Given the description of an element on the screen output the (x, y) to click on. 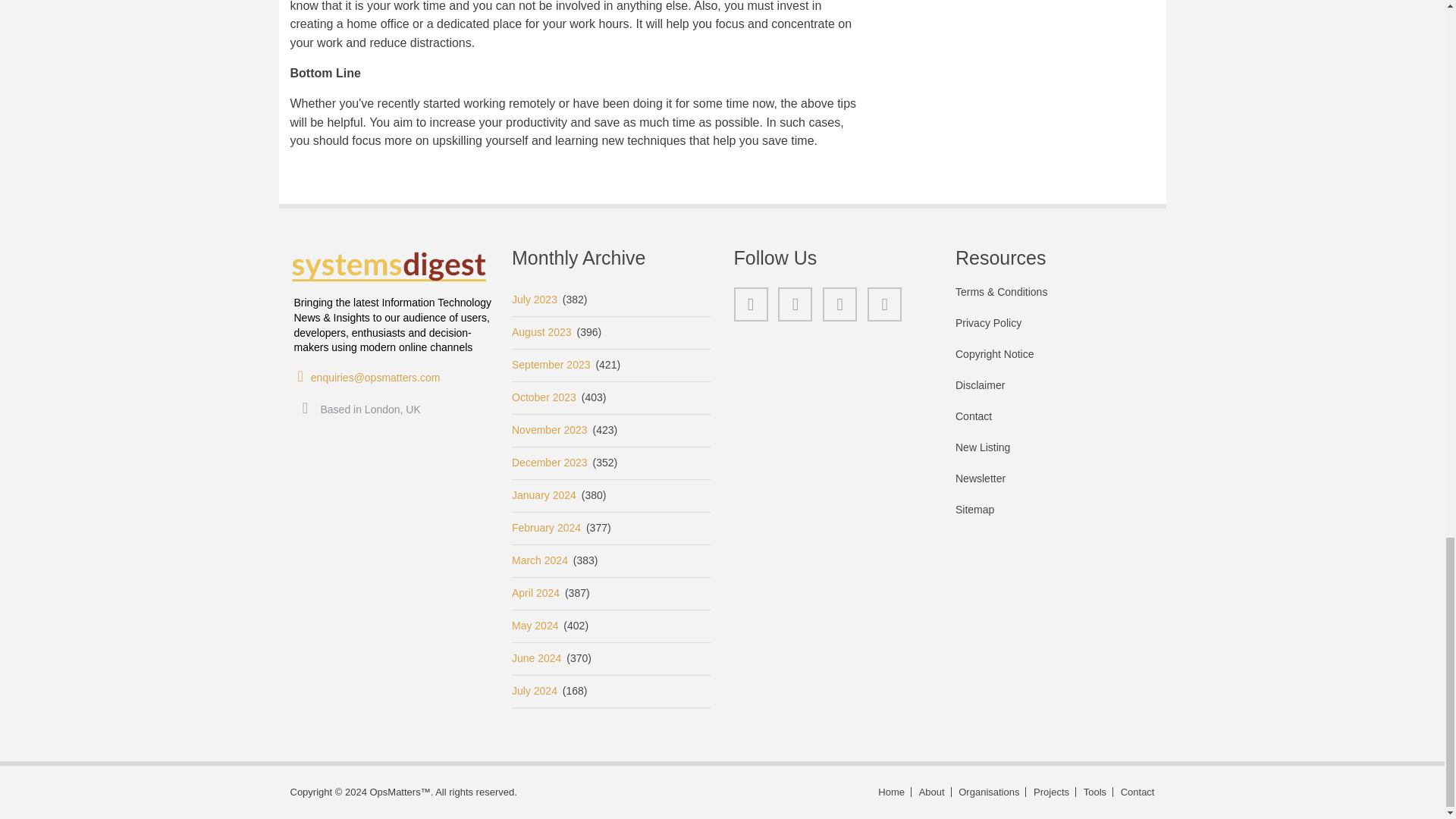
Subscribe to our newsletter (1054, 486)
Contact us (1135, 791)
Home (389, 266)
Takes you back to the homepage (892, 791)
